Given the description of an element on the screen output the (x, y) to click on. 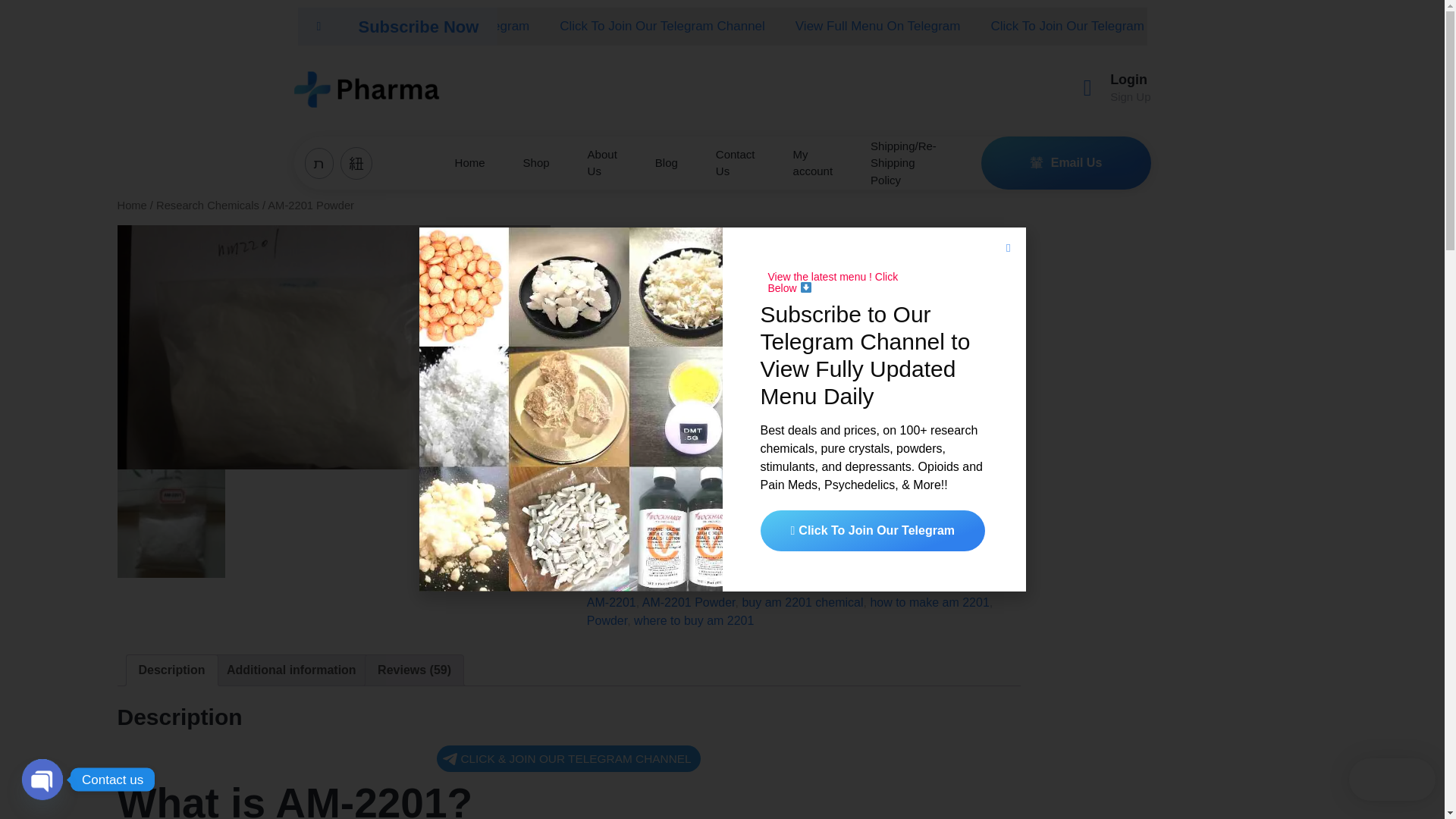
AM 2201 Powder (170, 523)
Click To Join Our Telegram Channel (1092, 26)
AM-2201 Powder (333, 347)
Home (131, 205)
1 (608, 516)
View Full Menu On Telegram (447, 26)
Add to cart (674, 518)
am 2201 cannabinoid (791, 574)
Contact Us (735, 162)
Login (1128, 79)
am 2201 erowid (702, 584)
AM-2201 (611, 602)
Research Chemicals (753, 565)
Home (469, 162)
Blog (666, 162)
